Given the description of an element on the screen output the (x, y) to click on. 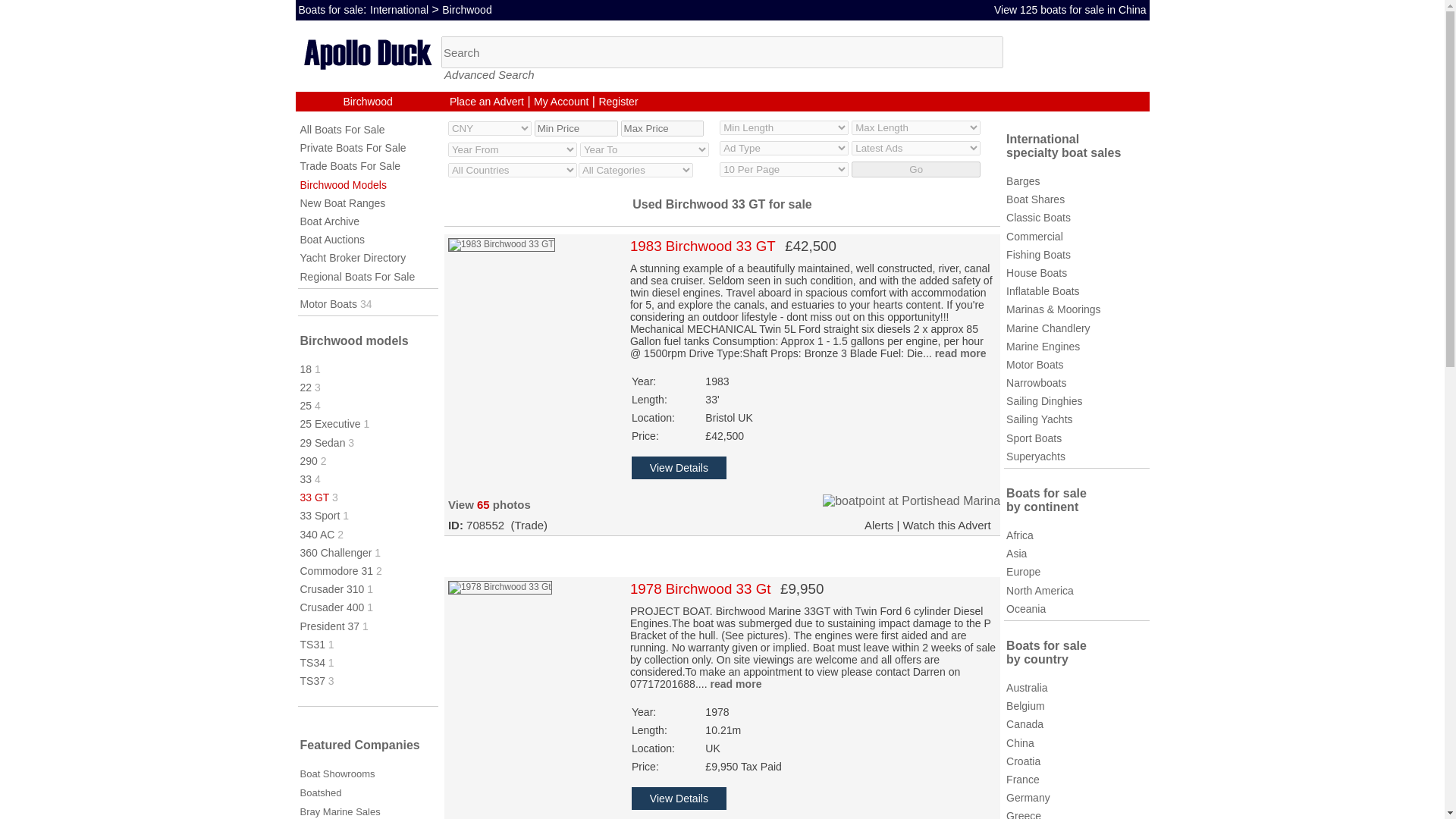
Birchwood (467, 9)
Crusader 310 (332, 589)
Trade Boats For Sale (350, 165)
33 Sport (319, 515)
Boat Search (722, 51)
Yacht Broker Directory (352, 257)
Go (915, 169)
Motor Boats (327, 304)
Boat Archive (329, 221)
Commodore 31 (336, 571)
Regional Boats For Sale (356, 275)
29 Sedan (322, 442)
Bray Marine Sales, UK (339, 811)
View 125 boats for sale in China (1070, 9)
Boat Showrooms, UK (337, 773)
